Given the description of an element on the screen output the (x, y) to click on. 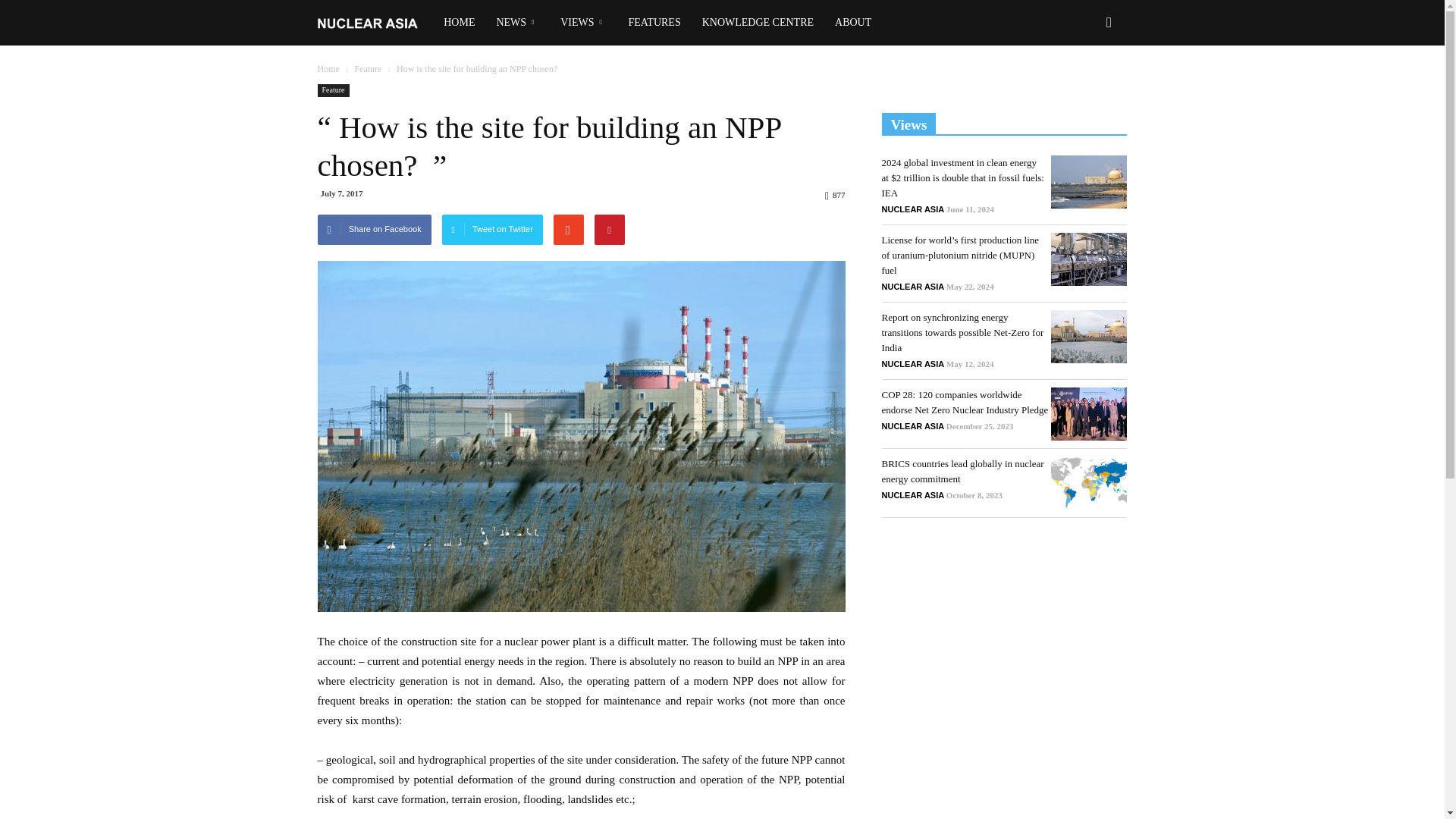
Nuclear Asia (374, 22)
NEWS (517, 22)
VIEWS (583, 22)
HOME (458, 22)
